Given the description of an element on the screen output the (x, y) to click on. 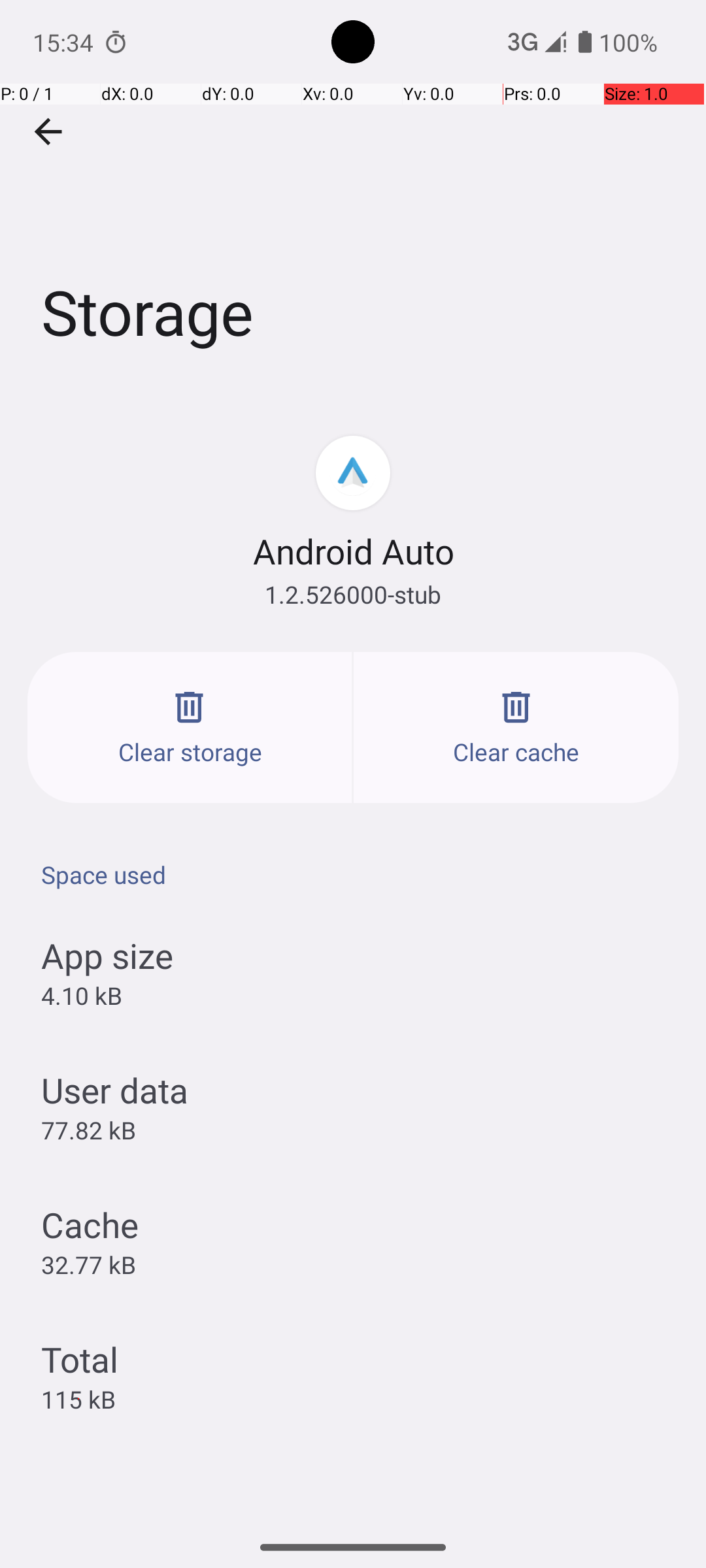
1.2.526000-stub Element type: android.widget.TextView (352, 593)
Clear storage Element type: android.widget.Button (189, 727)
4.10 kB Element type: android.widget.TextView (81, 995)
77.82 kB Element type: android.widget.TextView (88, 1129)
32.77 kB Element type: android.widget.TextView (88, 1264)
115 kB Element type: android.widget.TextView (78, 1398)
